Given the description of an element on the screen output the (x, y) to click on. 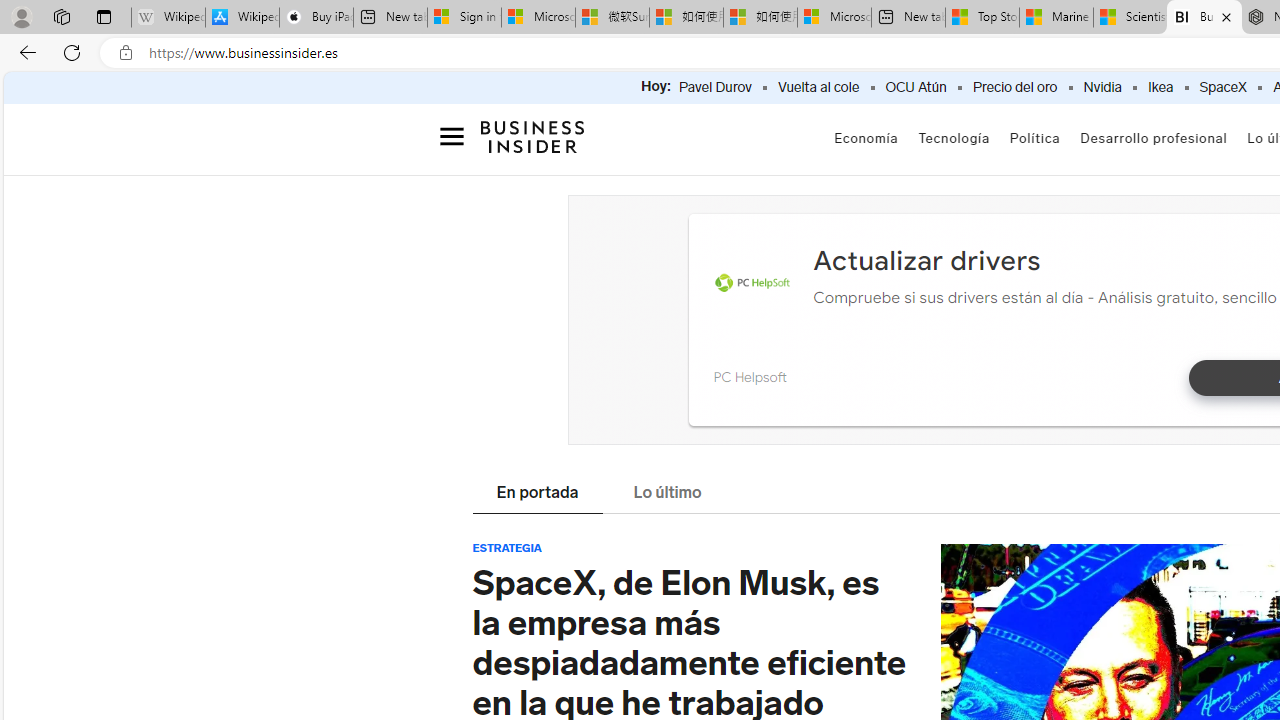
Logo BusinessInsider.es (532, 142)
Buy iPad - Apple (316, 17)
